Given the description of an element on the screen output the (x, y) to click on. 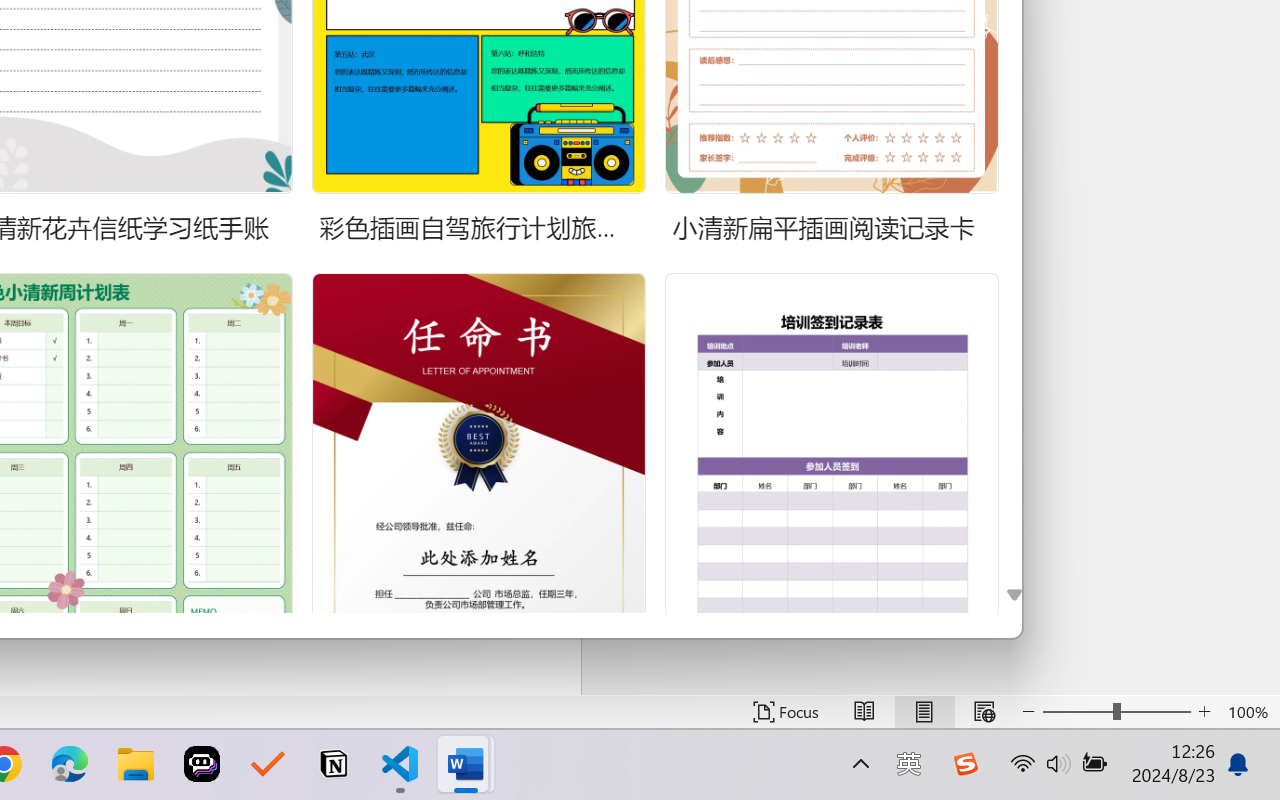
Zoom 100% (1249, 712)
Microsoft Edge (69, 764)
